Given the description of an element on the screen output the (x, y) to click on. 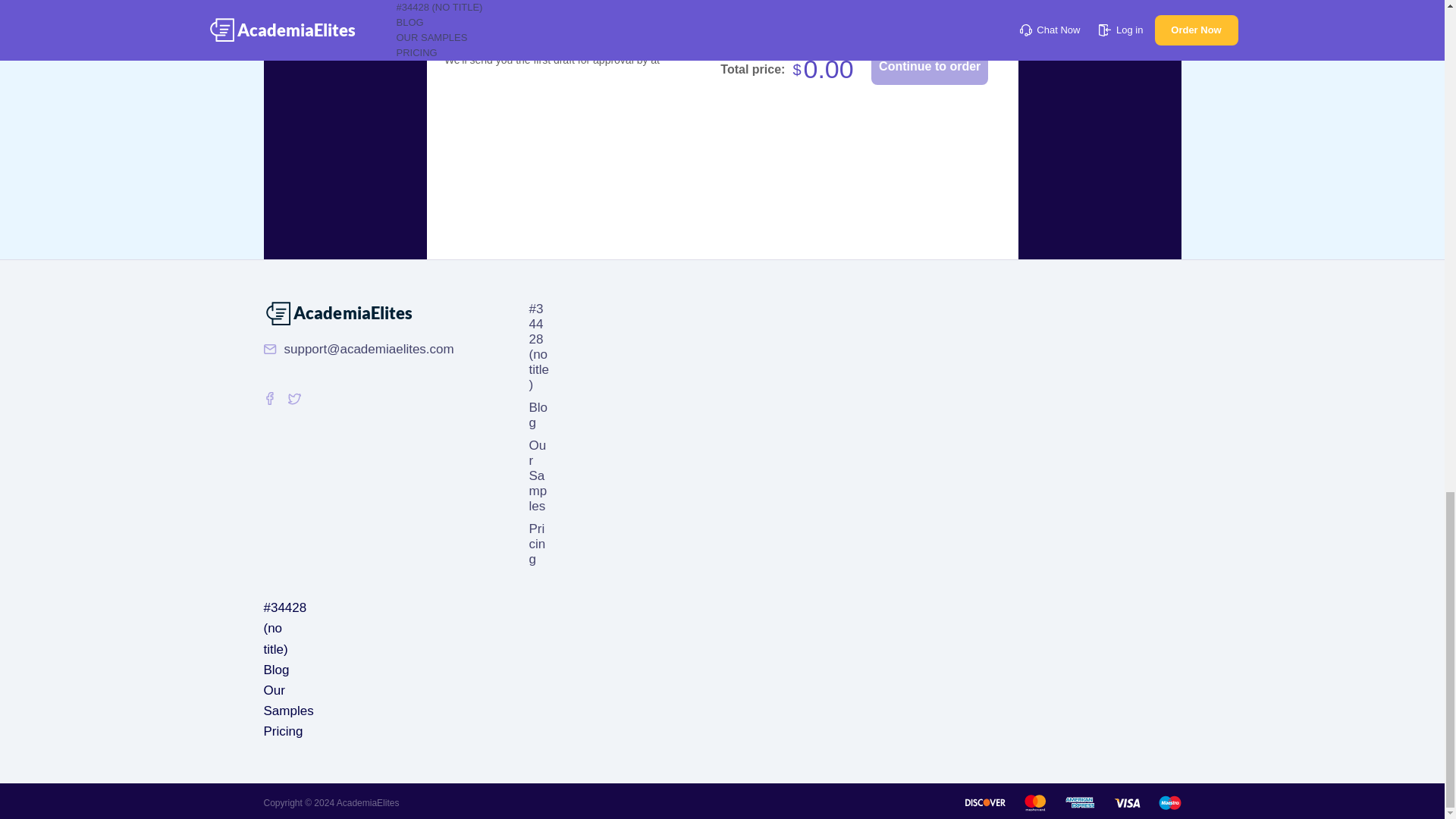
Blog (276, 670)
Our Samples (288, 700)
Continue to order (929, 66)
Continue to Order (929, 66)
Pricing (282, 731)
